Given the description of an element on the screen output the (x, y) to click on. 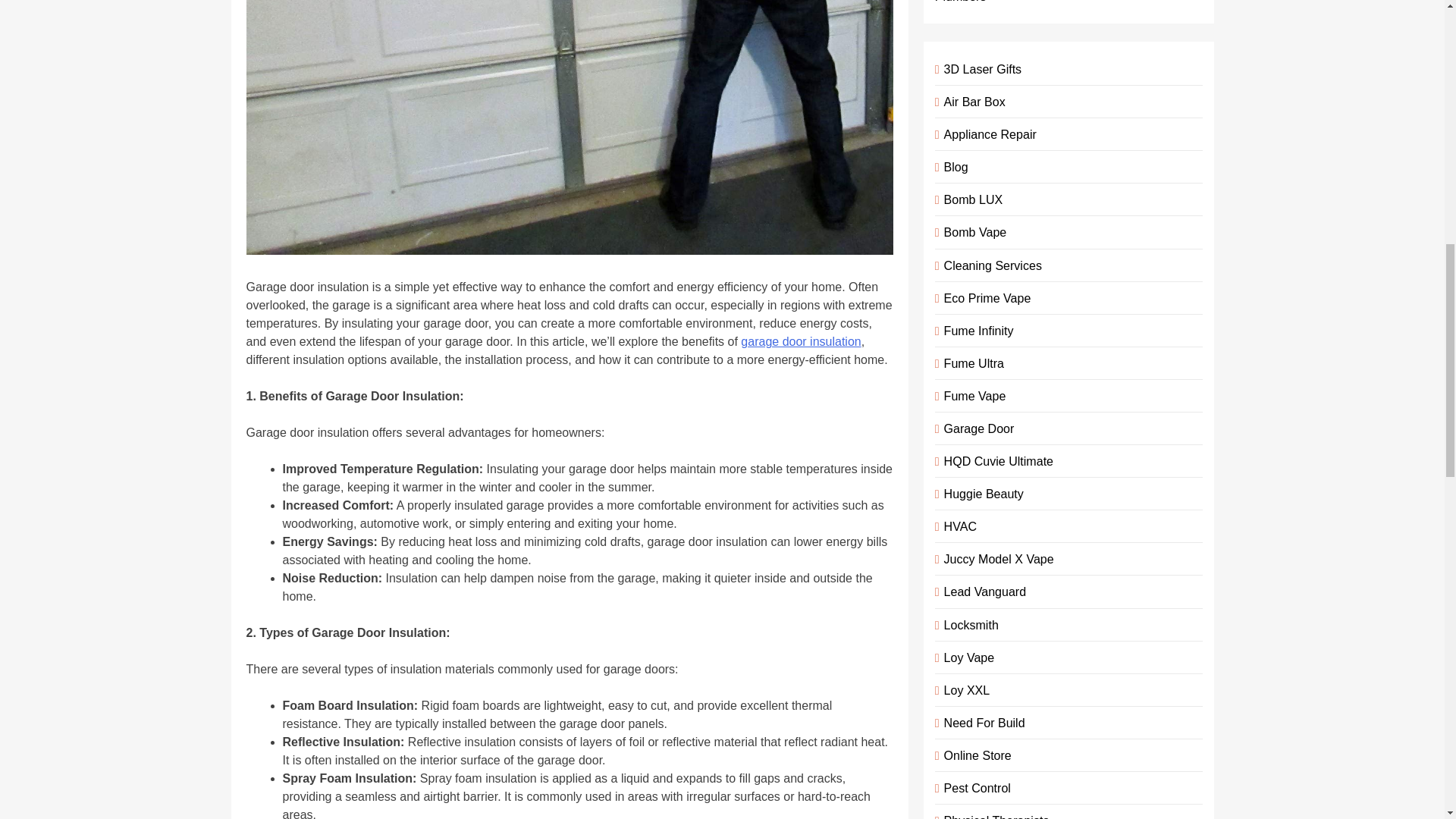
Blog (953, 166)
Eco Prime Vape (984, 297)
3D Laser Gifts (979, 69)
Bomb Vape (972, 232)
Air Bar Box (971, 101)
garage door insulation (800, 341)
Bomb LUX (970, 199)
Cleaning Services (989, 264)
Licensed and Insured Raleigh Rochester Plumbers (1048, 1)
Appliance Repair (987, 133)
